Given the description of an element on the screen output the (x, y) to click on. 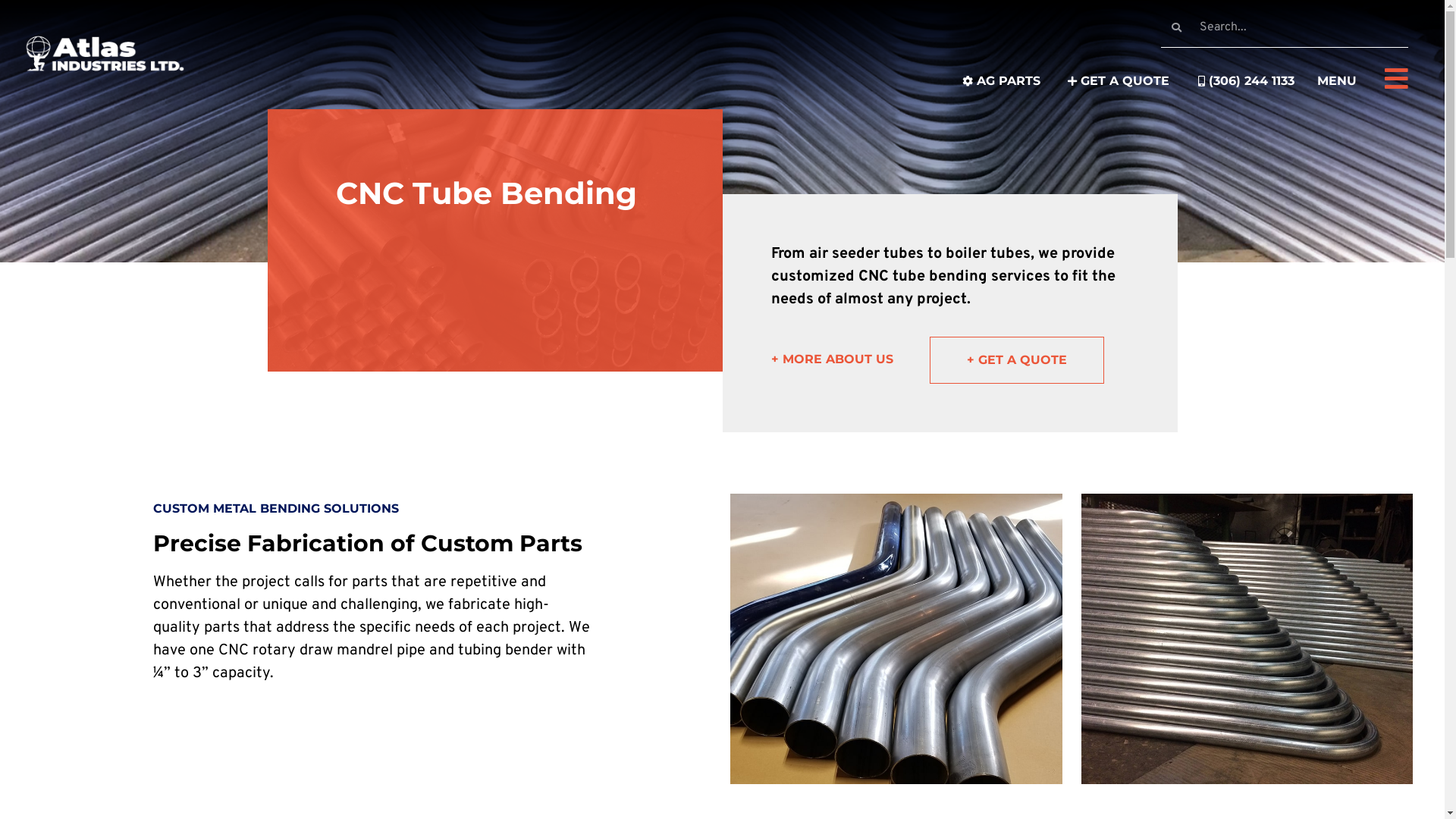
+ MORE ABOUT US Element type: text (849, 359)
+ GET A QUOTE Element type: text (1016, 359)
AG PARTS Element type: text (1000, 80)
(306) 244 1133 Element type: text (1243, 80)
GET A QUOTE Element type: text (1116, 80)
